Given the description of an element on the screen output the (x, y) to click on. 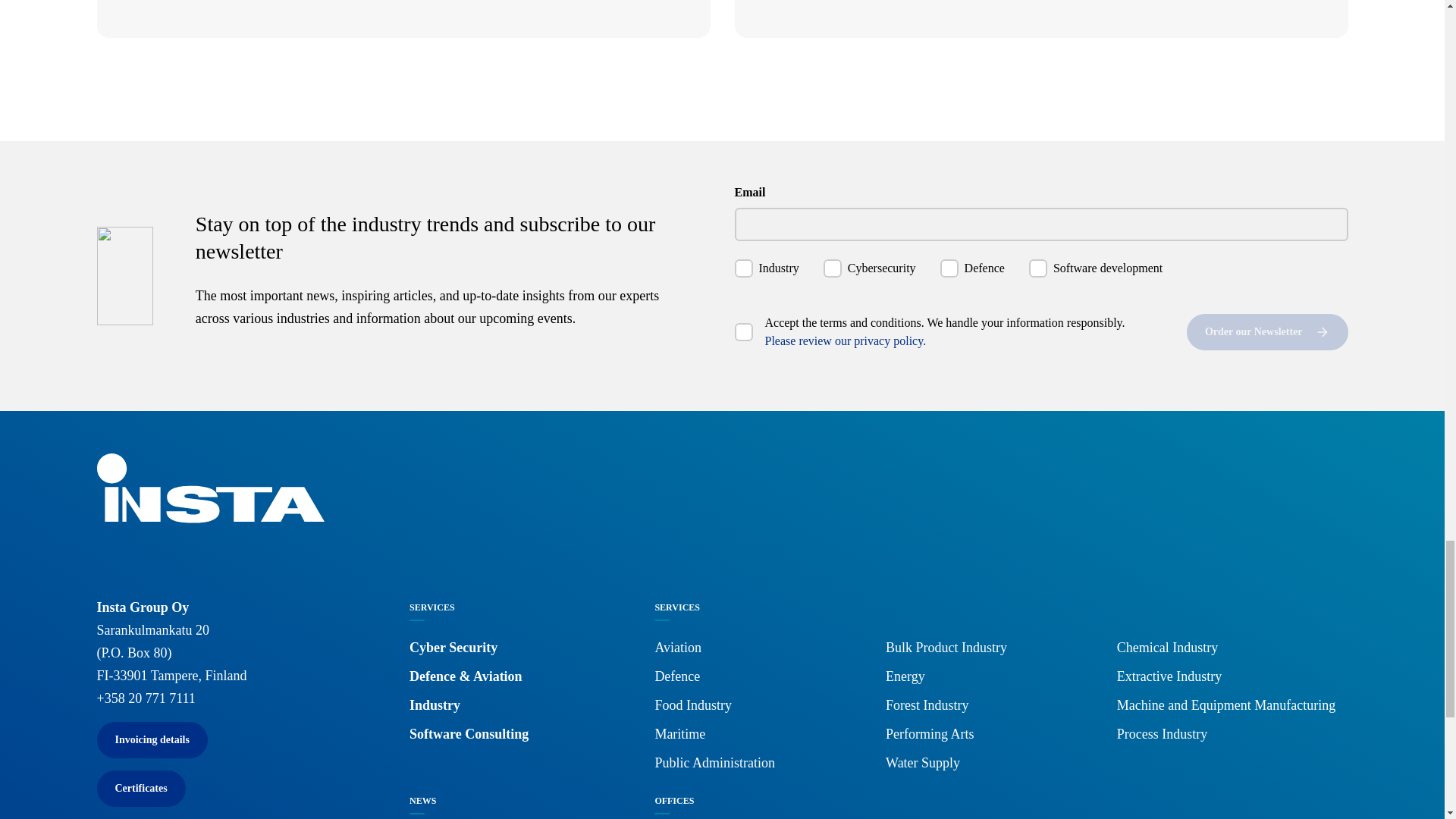
Embedded Systems (1241, 3)
cybersecurity (832, 268)
Cyber Security (453, 647)
Invoicing details (152, 739)
Please review our privacy policy. (845, 340)
Web Solutions (615, 3)
industry (742, 268)
Order our Newsletter (1267, 331)
Certificates (141, 788)
defence (949, 268)
